Given the description of an element on the screen output the (x, y) to click on. 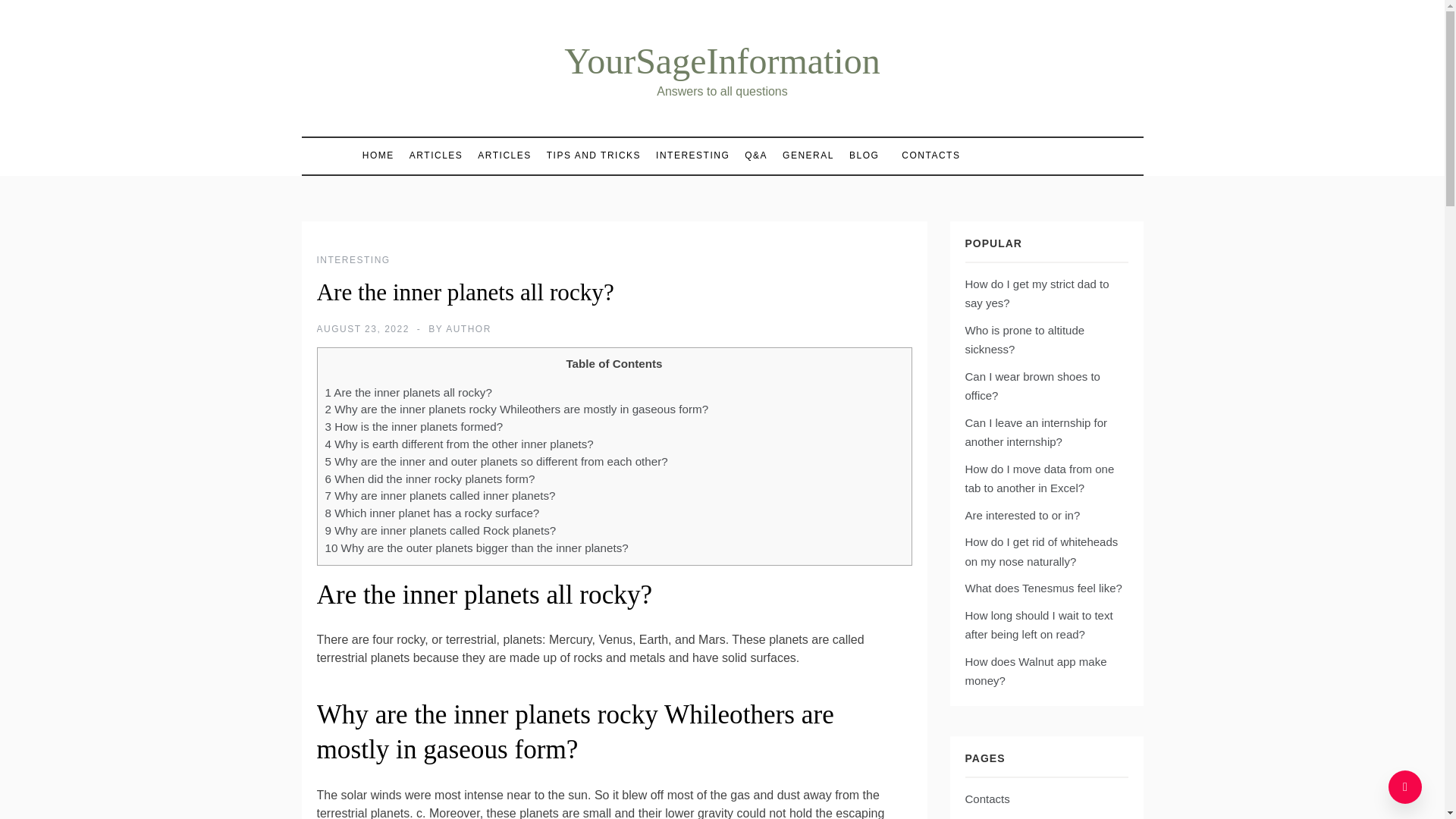
ARTICLES (435, 155)
INTERESTING (691, 155)
GENERAL (807, 155)
YourSageInformation (721, 60)
6 When did the inner rocky planets form? (429, 478)
How do I move data from one tab to another in Excel? (1038, 478)
AUGUST 23, 2022 (363, 328)
How do I get rid of whiteheads on my nose naturally? (1040, 551)
8 Which inner planet has a rocky surface? (431, 512)
How does Walnut app make money? (1034, 671)
